Given the description of an element on the screen output the (x, y) to click on. 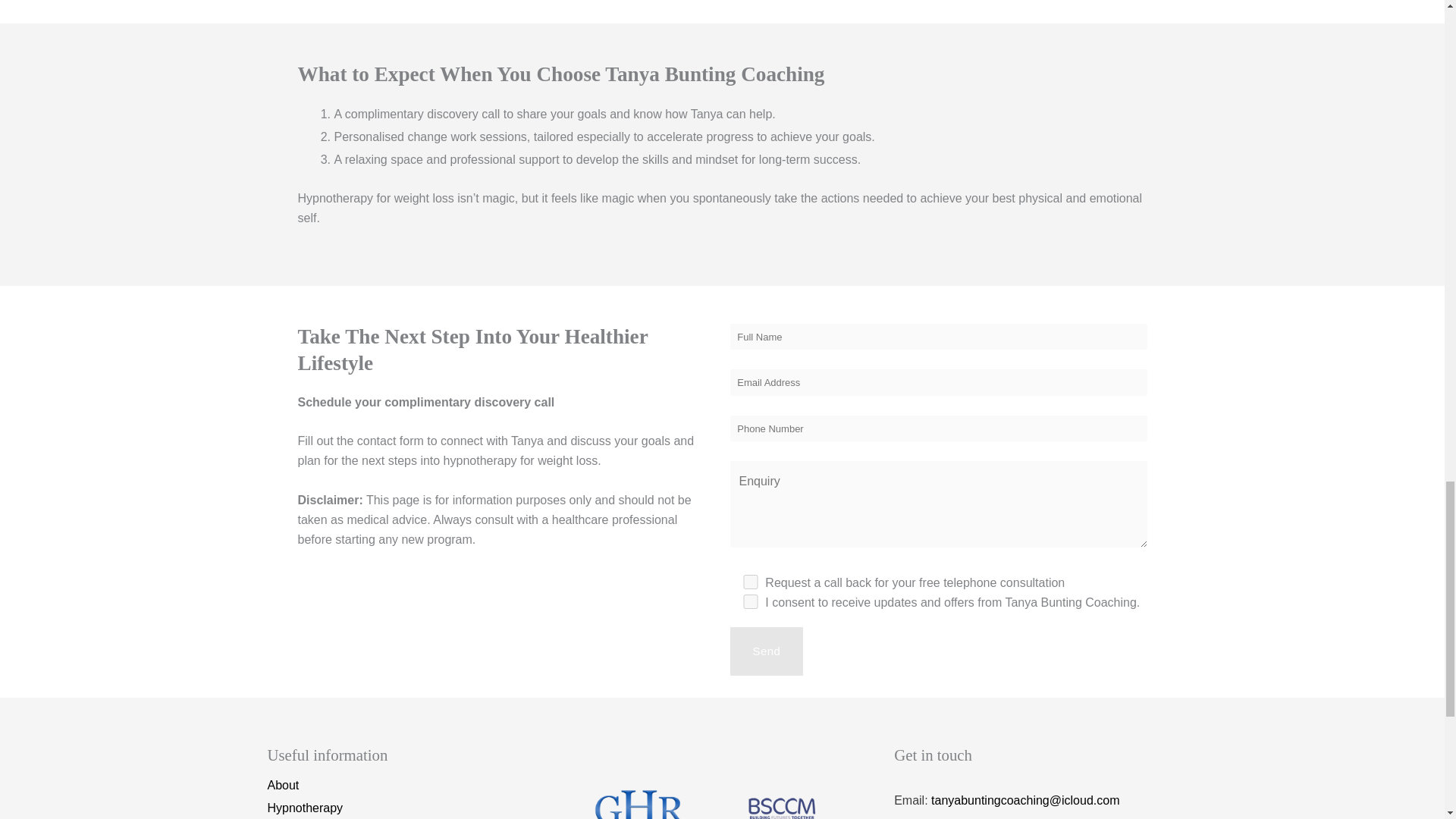
Request a call back for your free telephone consultation (749, 581)
1 (749, 601)
About (282, 784)
Hypnotherapy (304, 807)
Send (766, 651)
Send (766, 651)
